Given the description of an element on the screen output the (x, y) to click on. 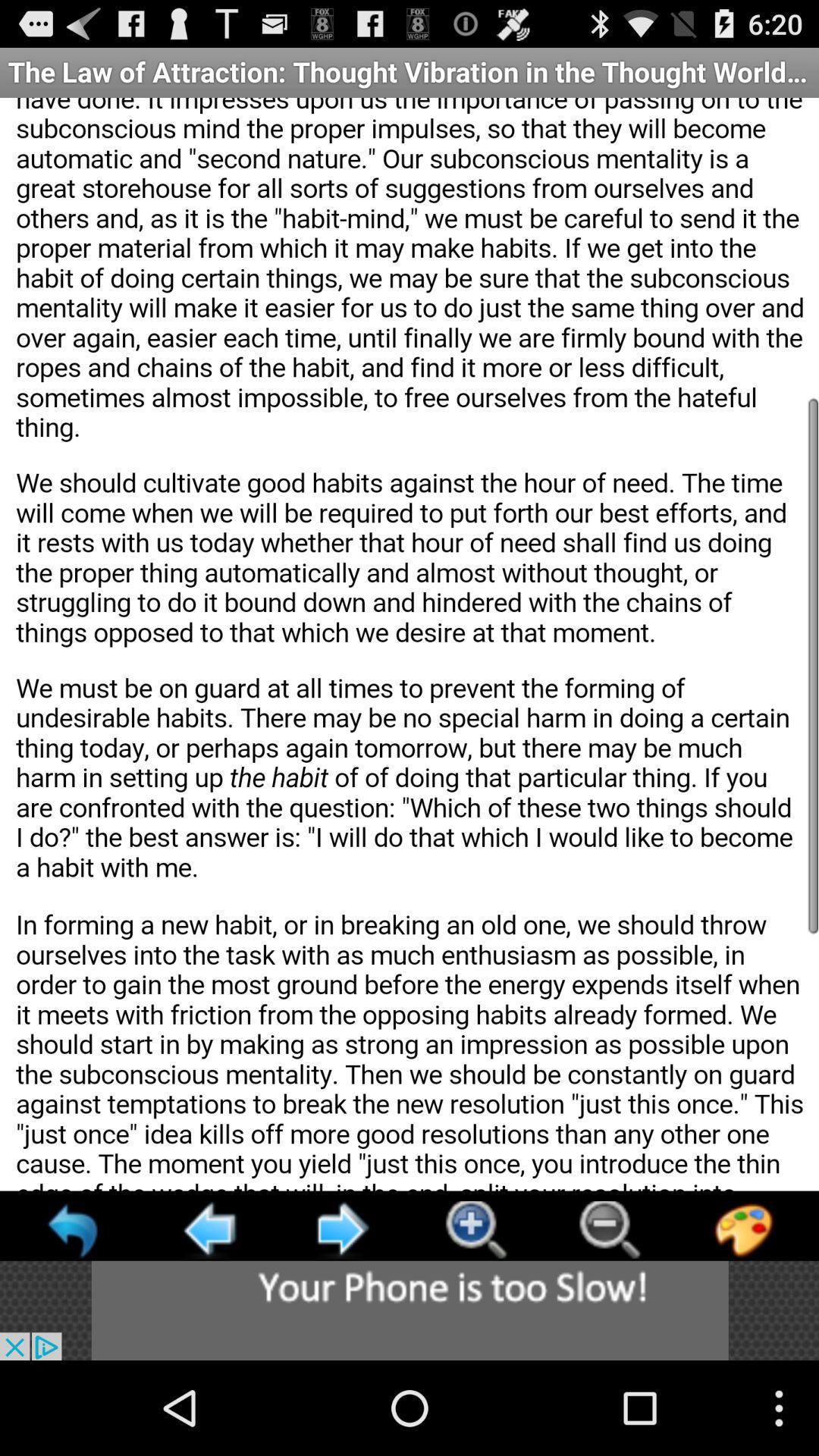
click arrow to go back to previous page (208, 1229)
